Given the description of an element on the screen output the (x, y) to click on. 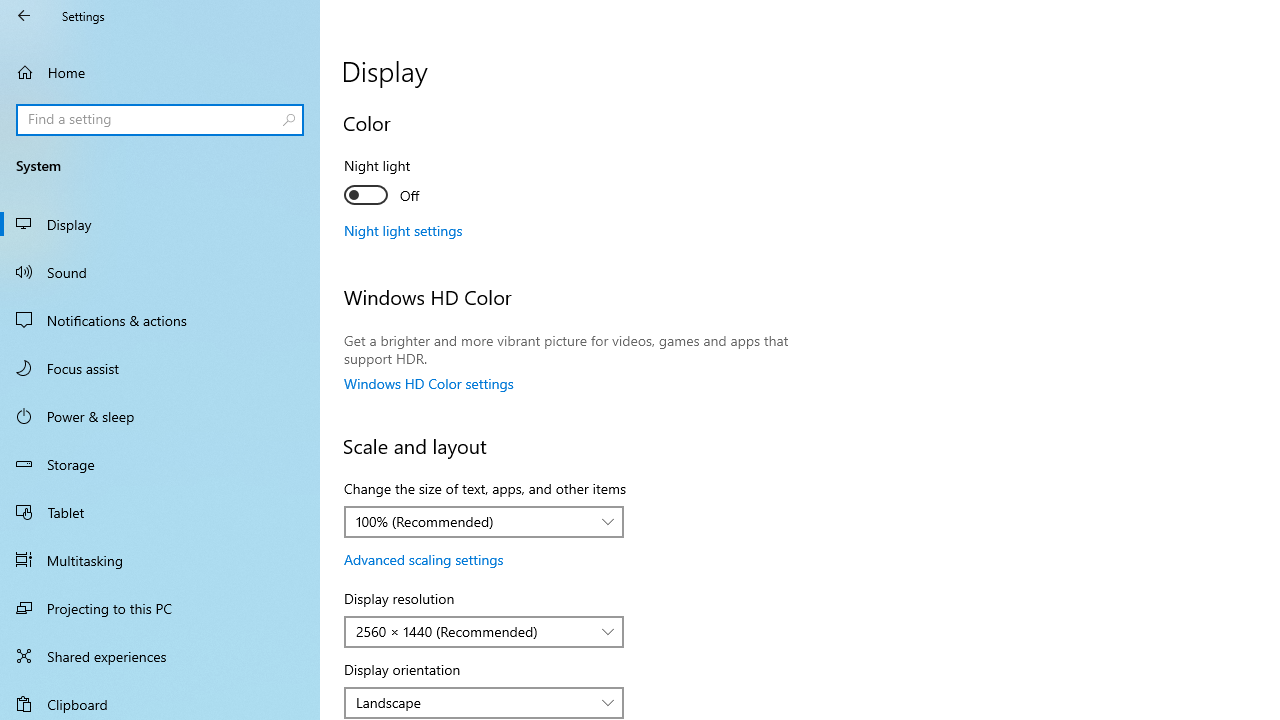
Home (160, 71)
Change the size of text, apps, and other items (484, 521)
Focus assist (160, 367)
Tablet (160, 511)
Notifications & actions (160, 319)
Power & sleep (160, 415)
Shared experiences (160, 655)
Storage (160, 463)
Night light (417, 183)
Sound (160, 271)
Display resolution (484, 632)
Display (160, 223)
Windows HD Color settings (429, 383)
Landscape (473, 702)
100% (Recommended) (473, 521)
